Given the description of an element on the screen output the (x, y) to click on. 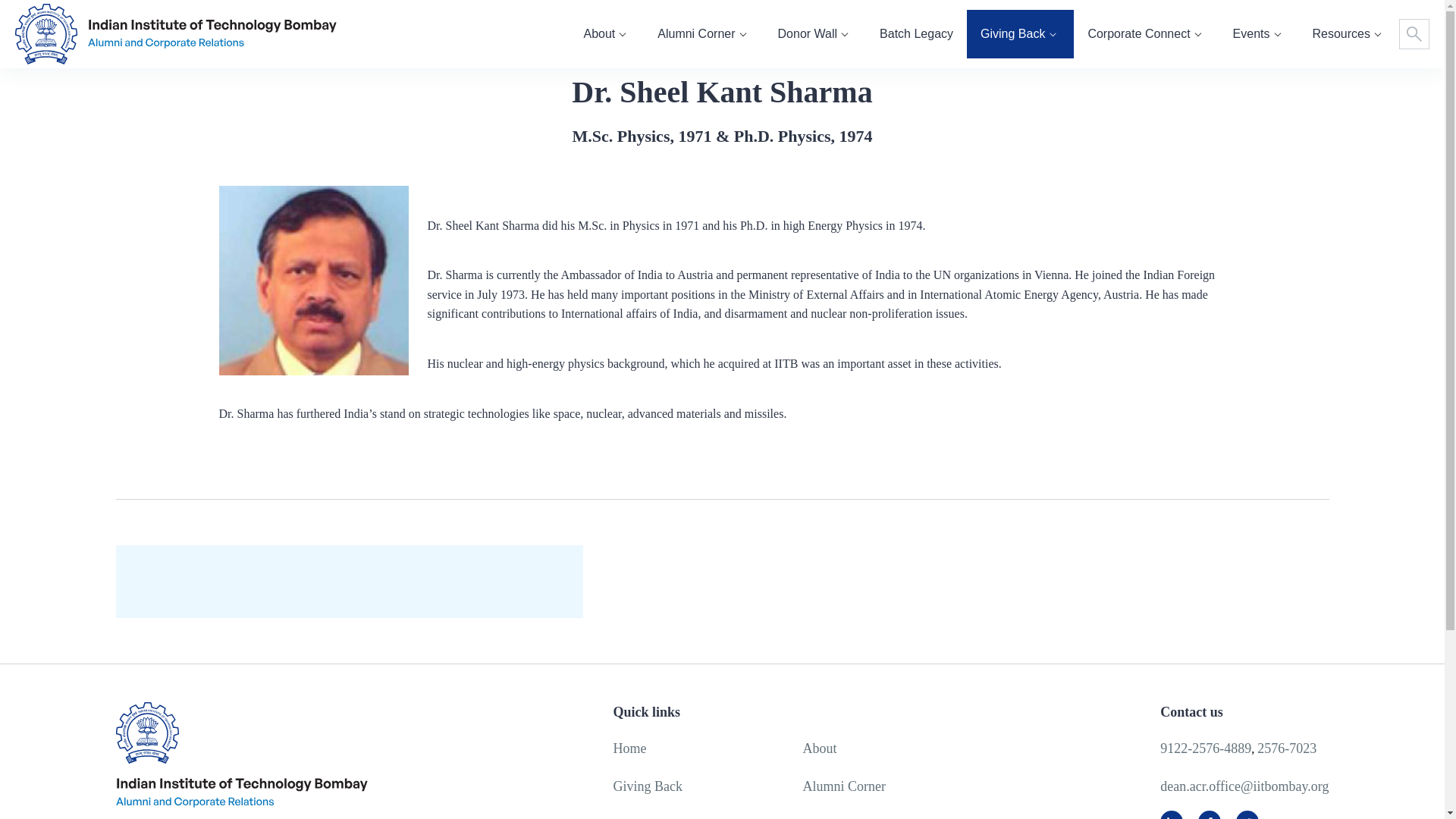
Events (1259, 34)
Corporate Connect (1146, 34)
Resources (1349, 34)
Batch Legacy (916, 34)
About (606, 34)
Alumni Corner (703, 34)
Giving Back (1019, 34)
Donor Wall (815, 34)
